Given the description of an element on the screen output the (x, y) to click on. 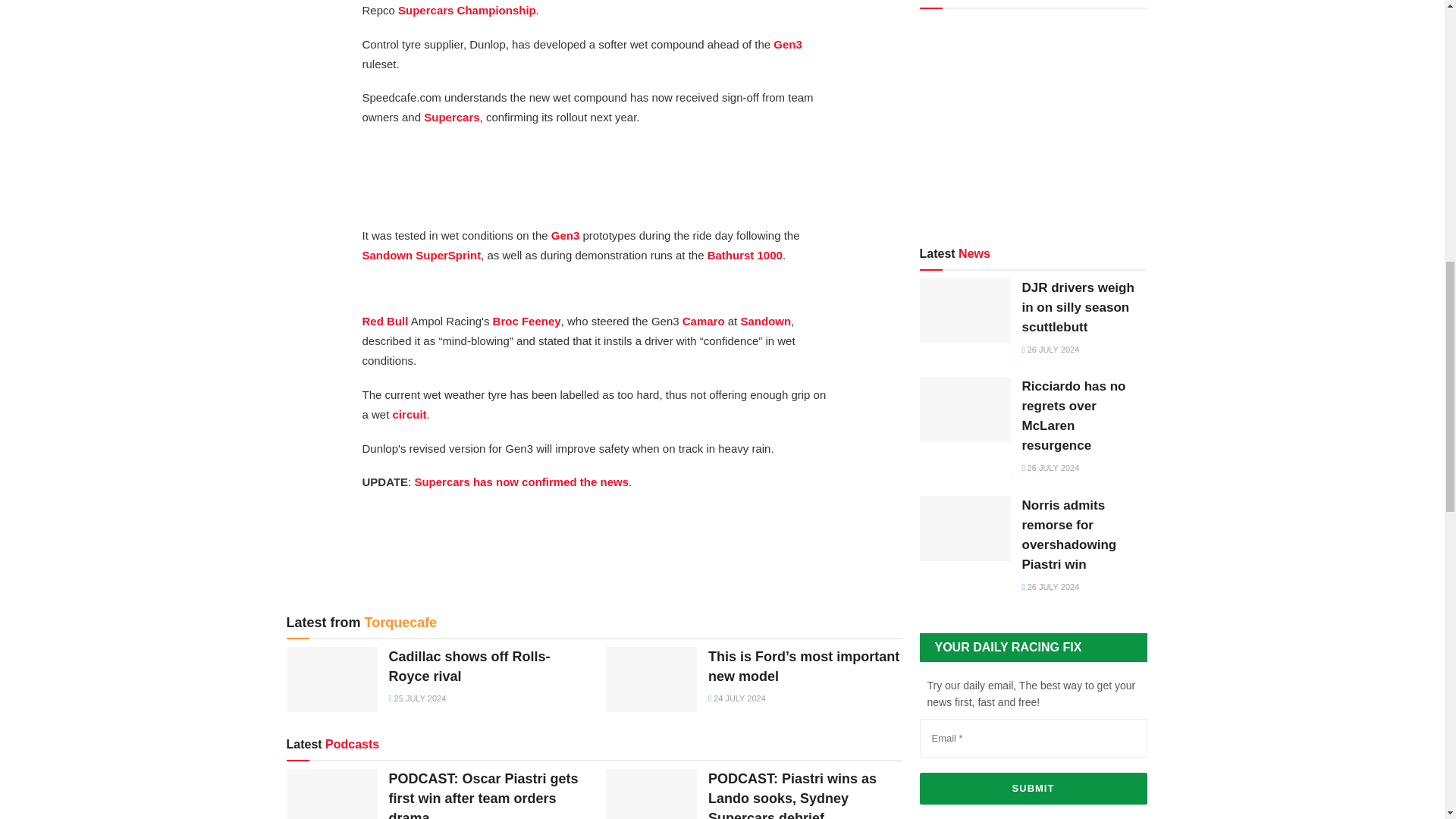
SUBMIT (1032, 788)
